Given the description of an element on the screen output the (x, y) to click on. 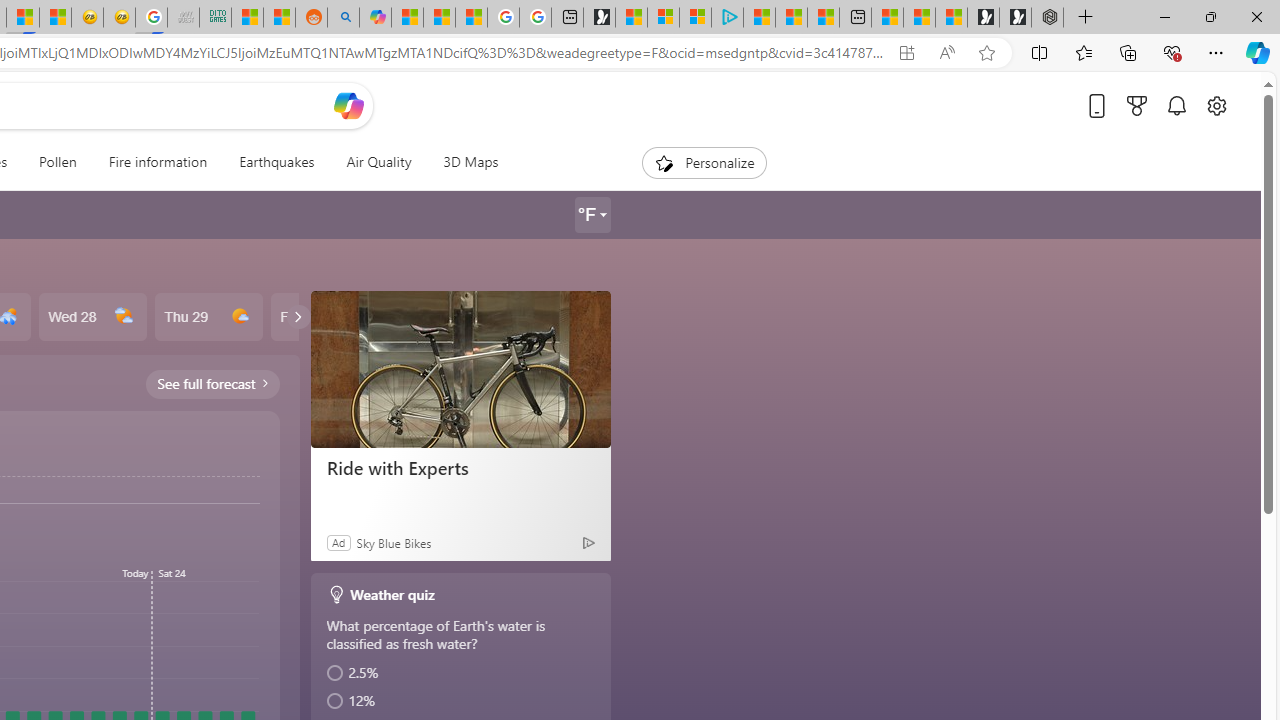
These 3 Stocks Pay You More Than 5% to Own Them (822, 17)
Fri 30 (324, 317)
Sky Blue Bikes (393, 542)
Wed 28 (92, 317)
3D Maps (463, 162)
12% (462, 701)
Air Quality (378, 162)
Thu 29 (207, 317)
